Given the description of an element on the screen output the (x, y) to click on. 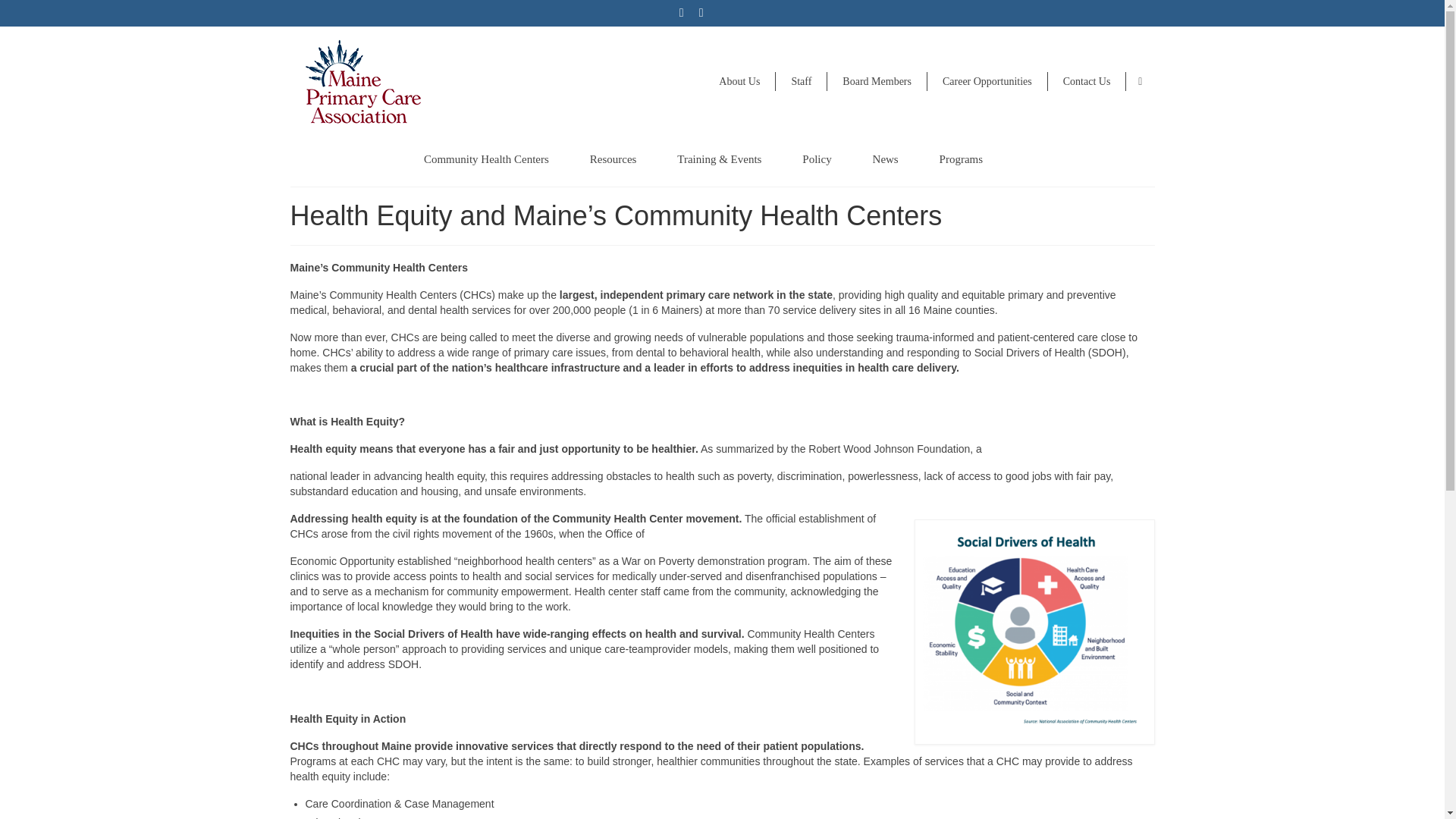
About Us (739, 81)
Search (1139, 81)
Staff (801, 81)
Contact Us (1087, 81)
Maine Primary Care Association (428, 84)
Career Opportunities (987, 81)
Board Members (877, 81)
